Given the description of an element on the screen output the (x, y) to click on. 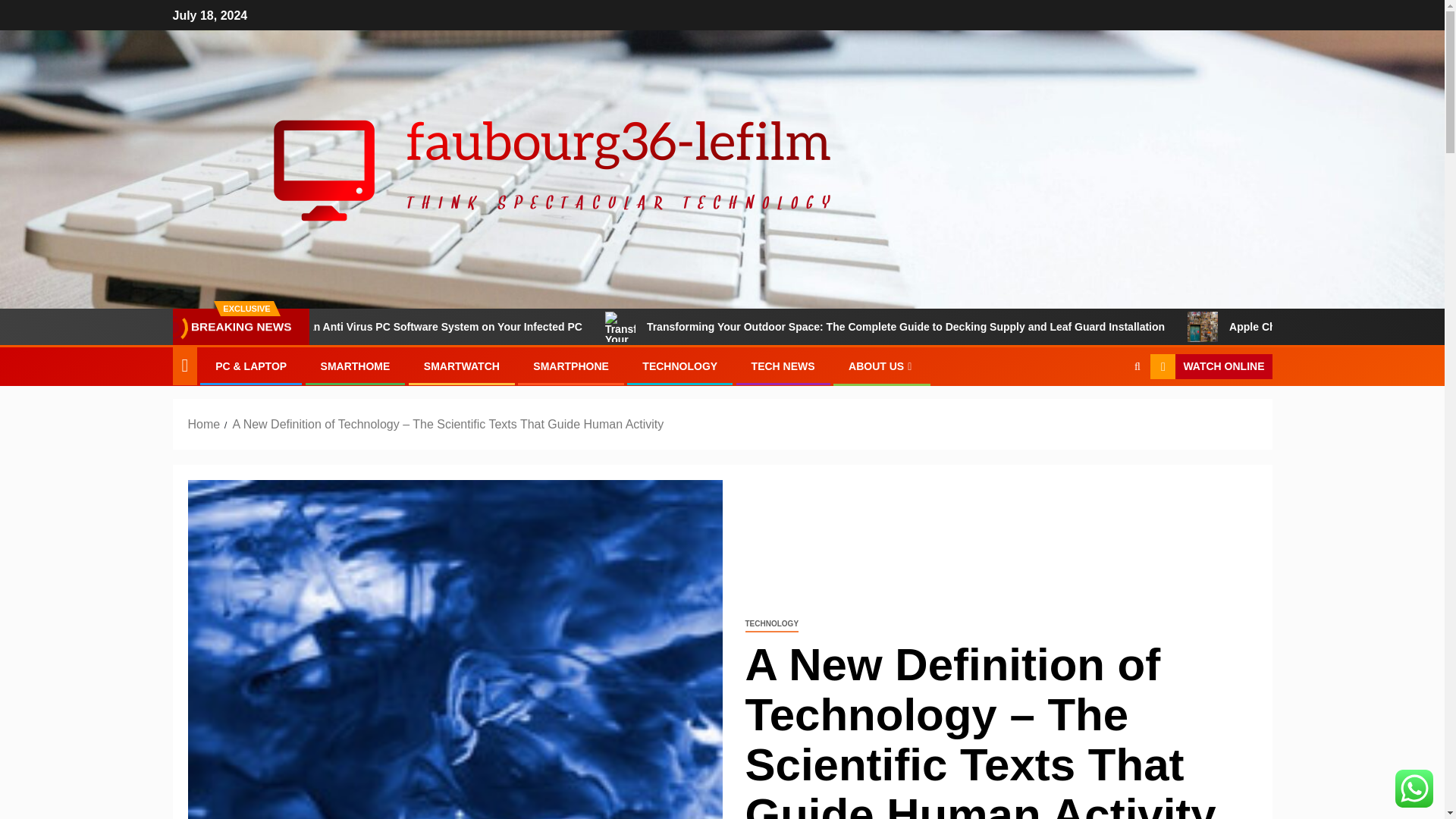
TECHNOLOGY (770, 624)
Search (1136, 366)
Home (204, 423)
TECHNOLOGY (679, 366)
TECH NEWS (783, 366)
SMARTWATCH (461, 366)
Apple Check out 3: Time For a New Calling (1283, 327)
SMARTPHONE (570, 366)
ABOUT US (881, 366)
Search (1107, 412)
SMARTHOME (355, 366)
WATCH ONLINE (1210, 366)
